Given the description of an element on the screen output the (x, y) to click on. 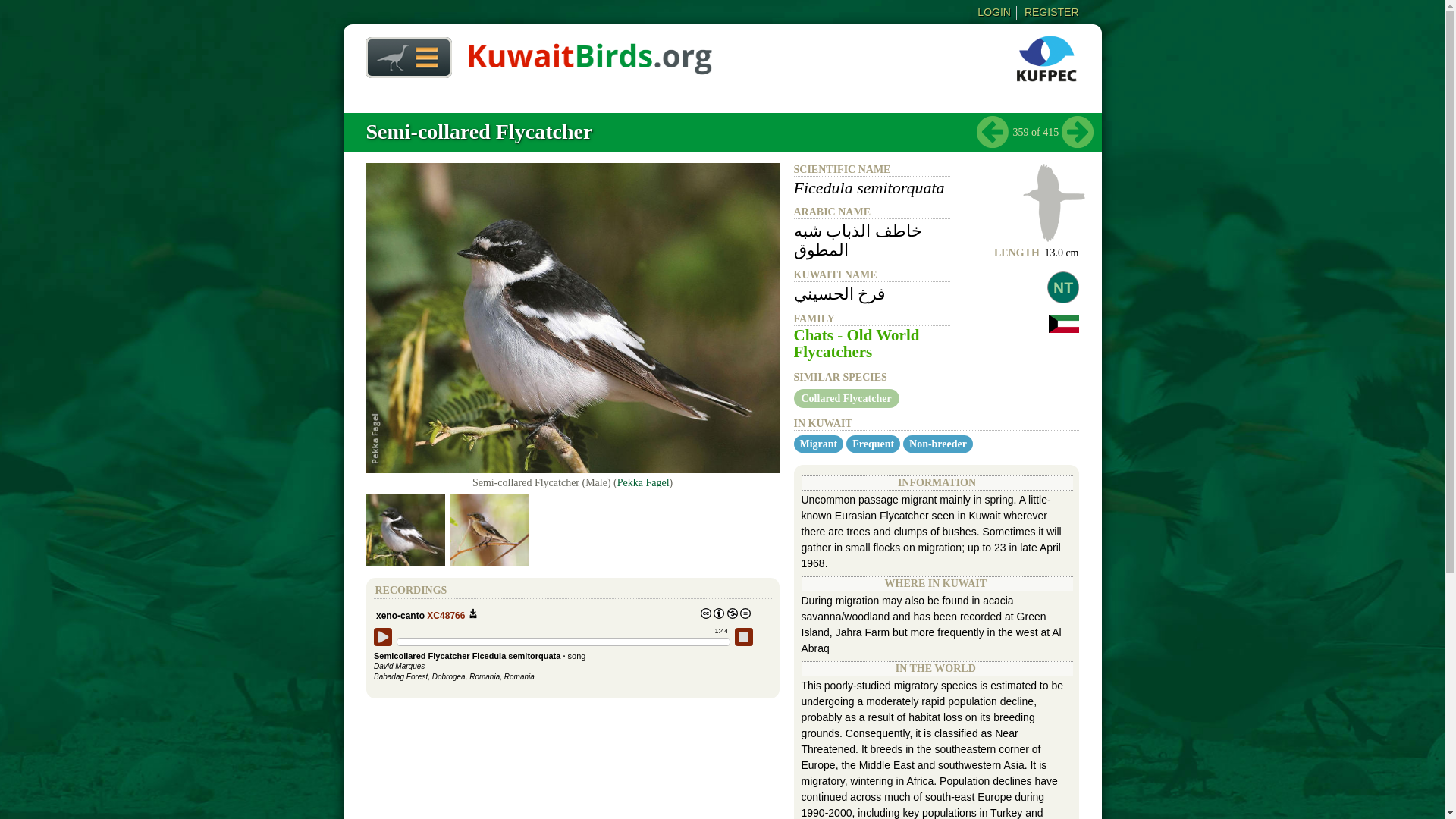
Skip to main content (691, 1)
KuwaitBirds.org (589, 69)
Semi-collared Flycatcher (478, 131)
REGISTER (1051, 11)
Near Threatened (1062, 287)
LOGIN (993, 11)
Pekka Fagel (643, 482)
